Given the description of an element on the screen output the (x, y) to click on. 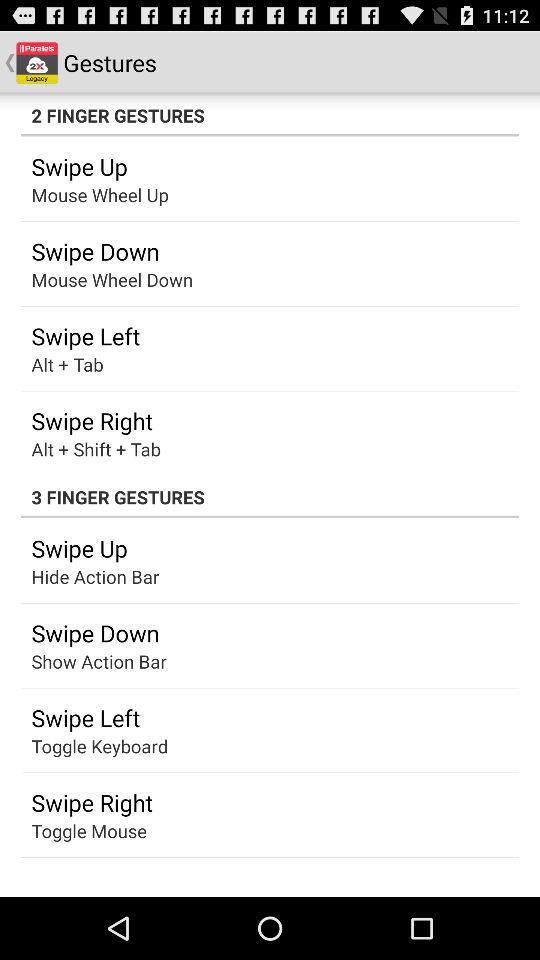
open icon below the swipe left (99, 745)
